Given the description of an element on the screen output the (x, y) to click on. 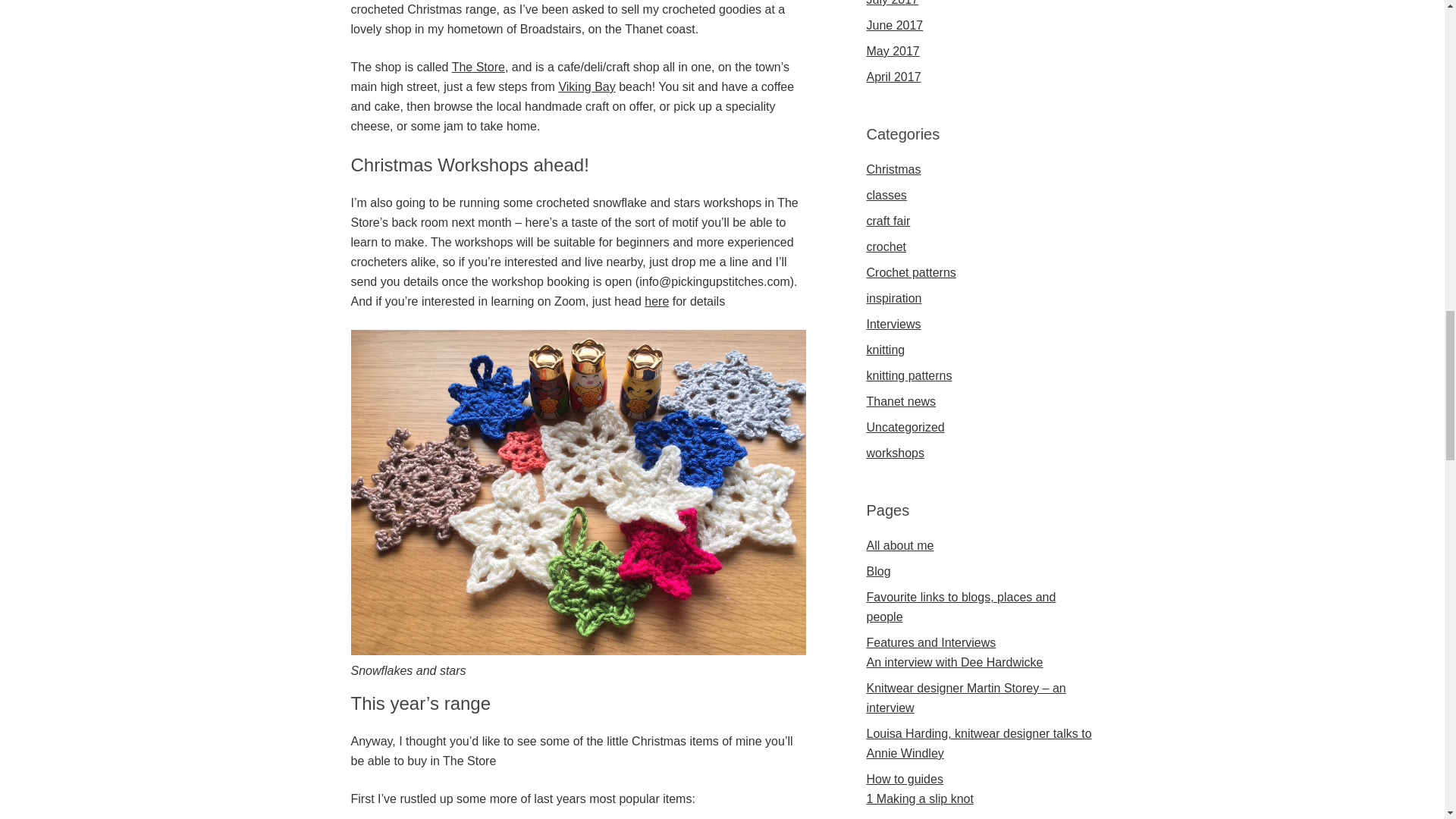
here (656, 300)
The Store (478, 66)
Viking Bay (585, 86)
